Given the description of an element on the screen output the (x, y) to click on. 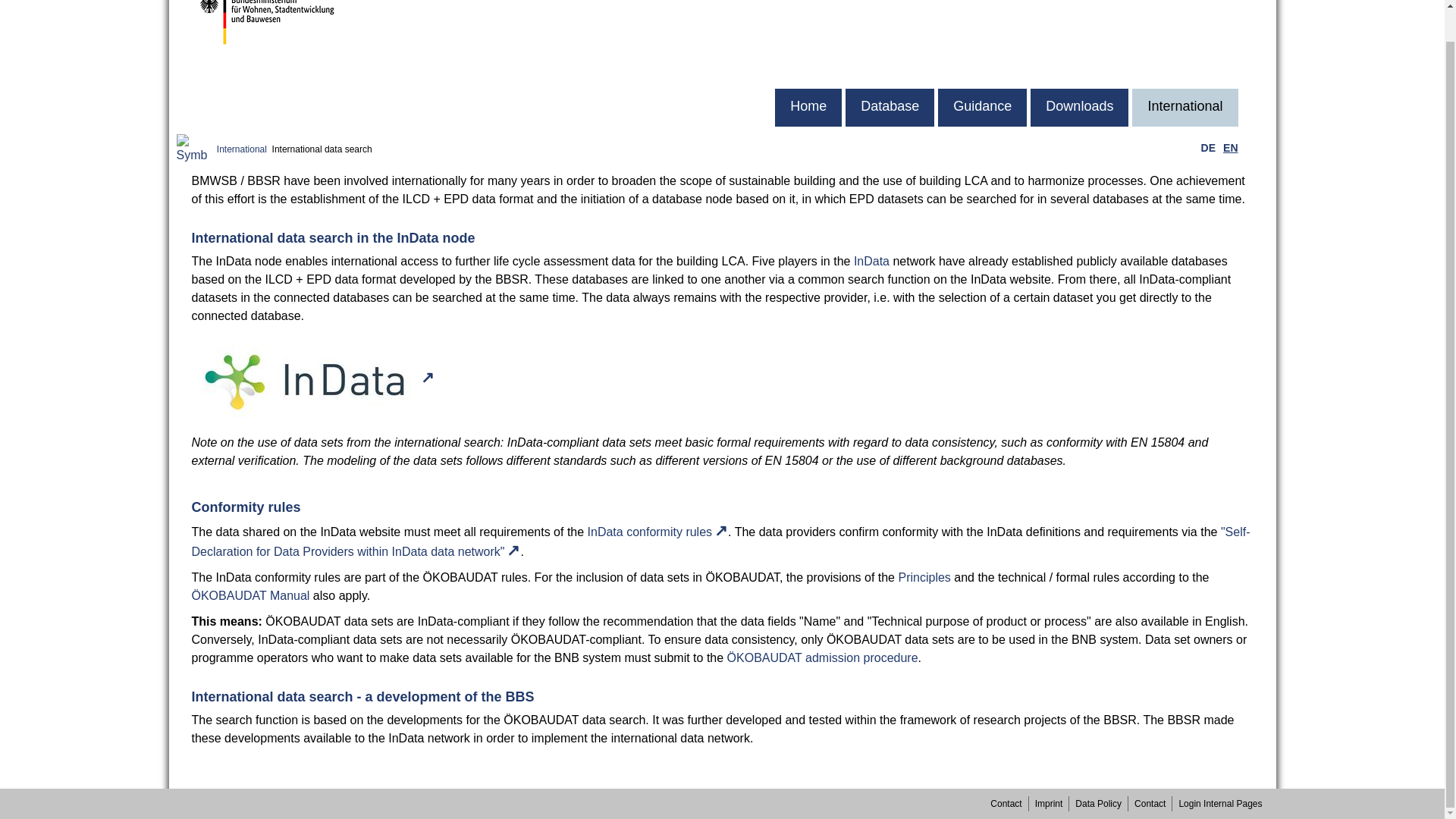
EN (1230, 147)
English Version (1230, 148)
Guidance (981, 107)
InData conformity rules (658, 531)
Principles (924, 576)
DE (1208, 147)
International (1184, 107)
Contact (1006, 770)
Home (807, 107)
Database (889, 107)
InData (871, 260)
Deutsche Sprachversion (1208, 148)
International (241, 149)
Data Policy (1098, 770)
